Given the description of an element on the screen output the (x, y) to click on. 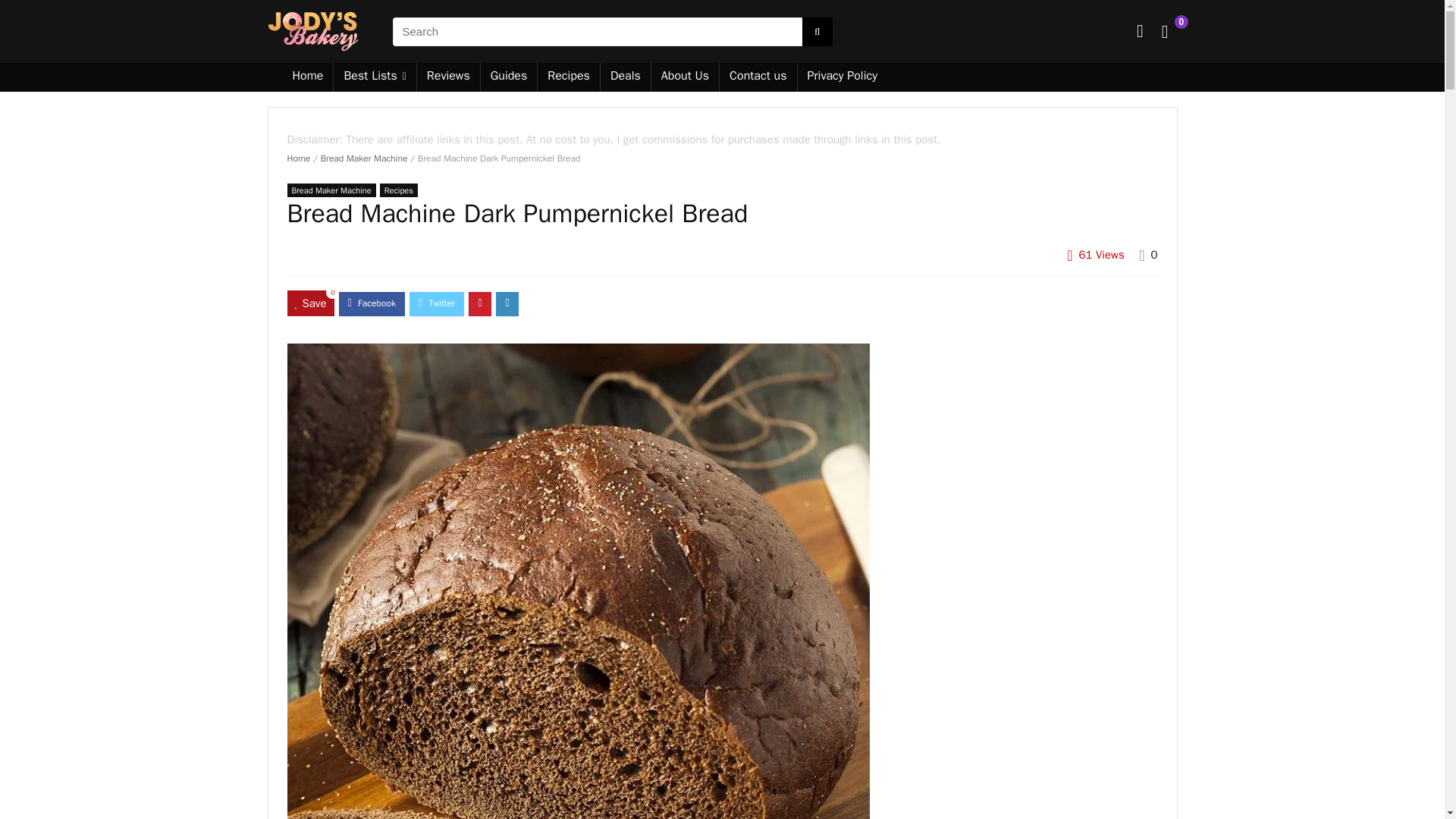
Bread Maker Machine (330, 190)
View all posts in Bread Maker Machine (330, 190)
Reviews (448, 77)
View all posts in Recipes (398, 190)
Recipes (398, 190)
Home (298, 158)
Privacy Policy (841, 77)
Home (307, 77)
Contact us (757, 77)
Recipes (568, 77)
Guides (508, 77)
Bread Maker Machine (363, 158)
About Us (684, 77)
Best Lists (373, 77)
Deals (624, 77)
